Given the description of an element on the screen output the (x, y) to click on. 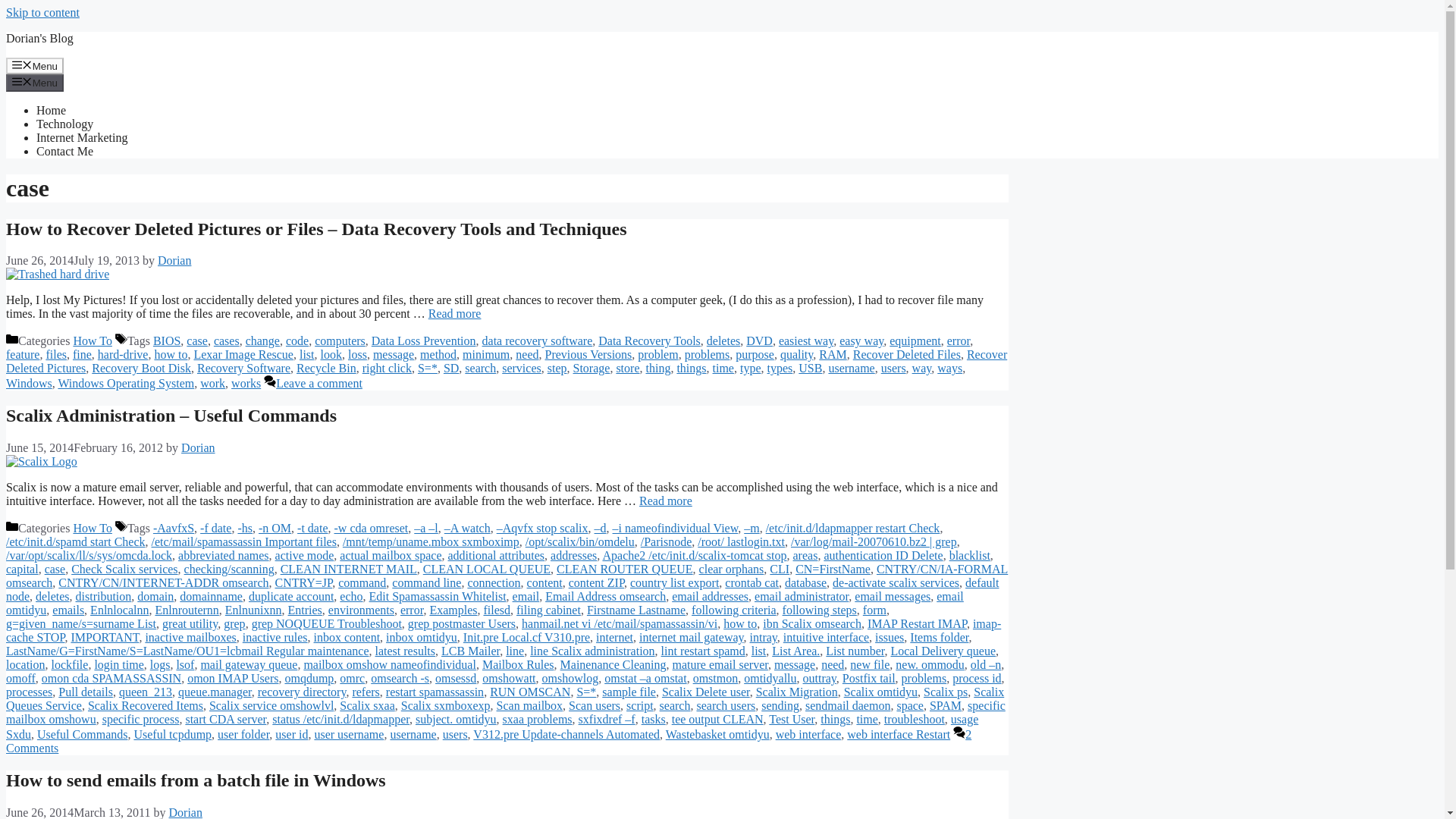
View all posts by Dorian (197, 447)
deletes (722, 340)
fine (81, 354)
hard-drive (122, 354)
Skip to content (42, 11)
Data Loss Prevention (423, 340)
Technology (64, 123)
error (958, 340)
Read more (454, 313)
code (296, 340)
data recovery software (536, 340)
equipment (914, 340)
easy way (861, 340)
Dorian (173, 259)
Home (50, 110)
